Given the description of an element on the screen output the (x, y) to click on. 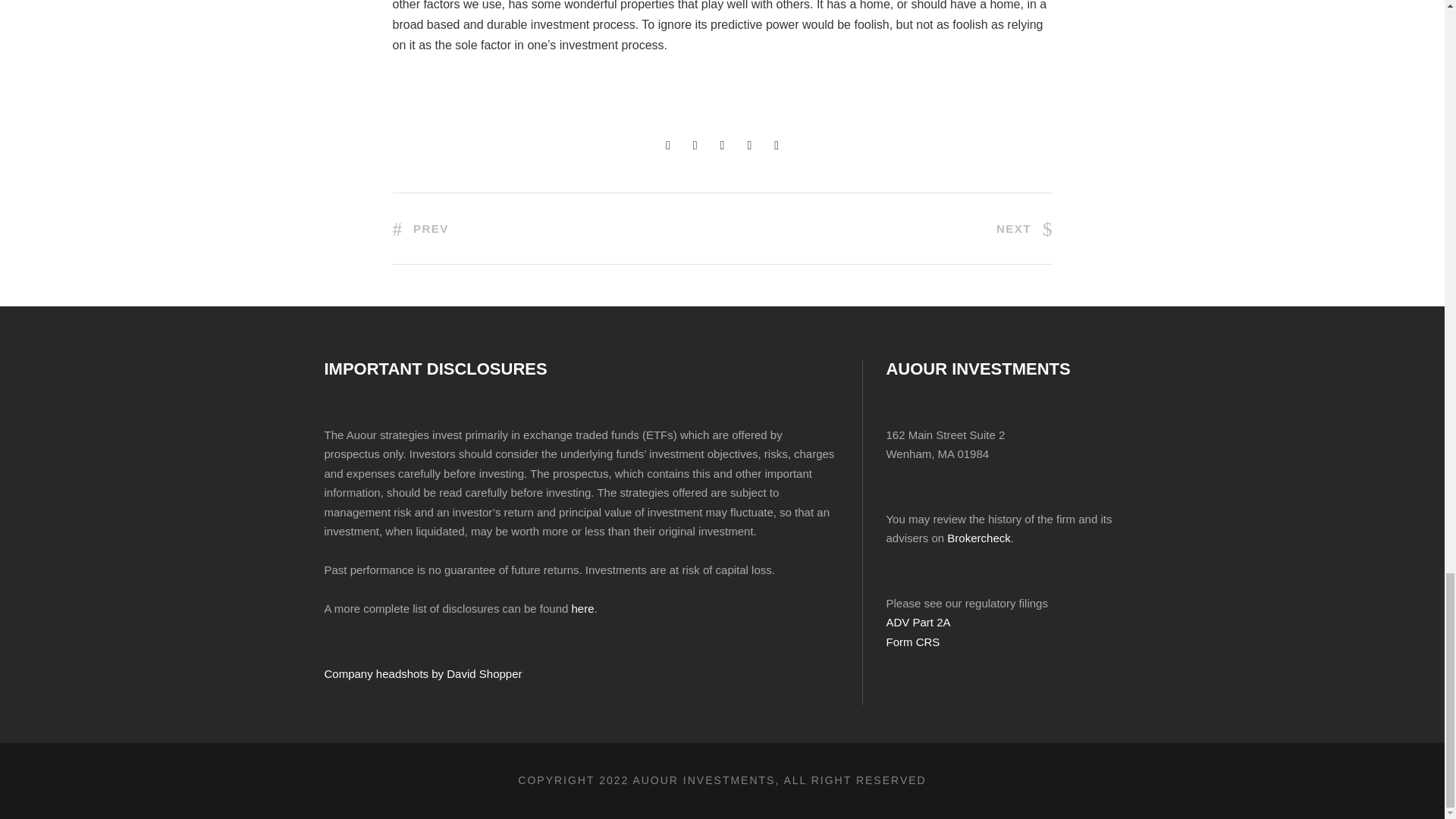
NEXT (1023, 228)
PREV (420, 228)
